Given the description of an element on the screen output the (x, y) to click on. 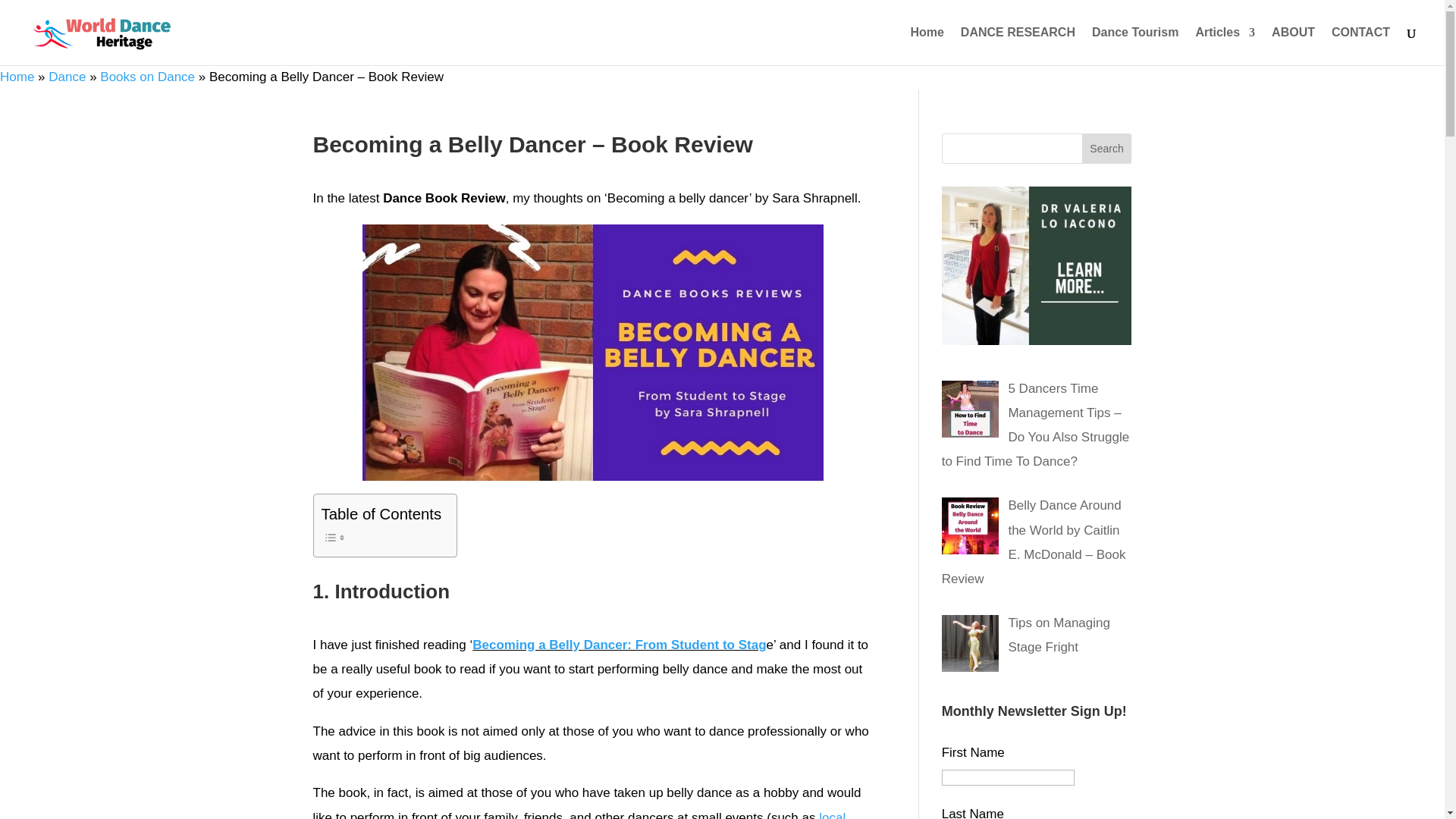
Search (1106, 148)
CONTACT (1361, 46)
Articles (1225, 46)
Books on Dance (147, 76)
ABOUT (1292, 46)
DANCE RESEARCH (1017, 46)
Dance (66, 76)
Home (16, 76)
Dance Tourism (1134, 46)
Becoming a Belly Dancer: From Student to Stag (618, 644)
local hafla (579, 814)
